Given the description of an element on the screen output the (x, y) to click on. 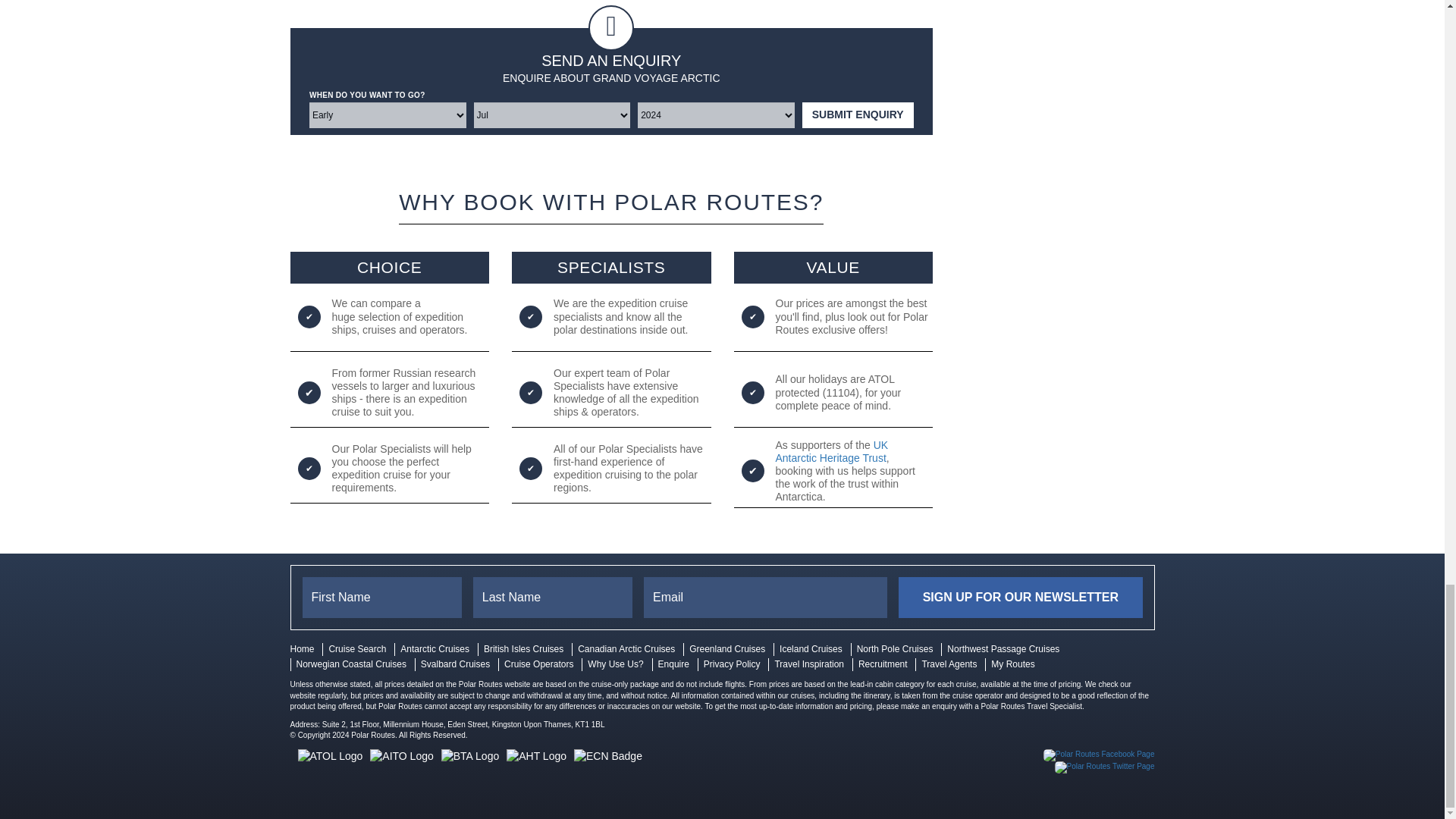
Sign Up For Our Newsletter (1019, 597)
